Given the description of an element on the screen output the (x, y) to click on. 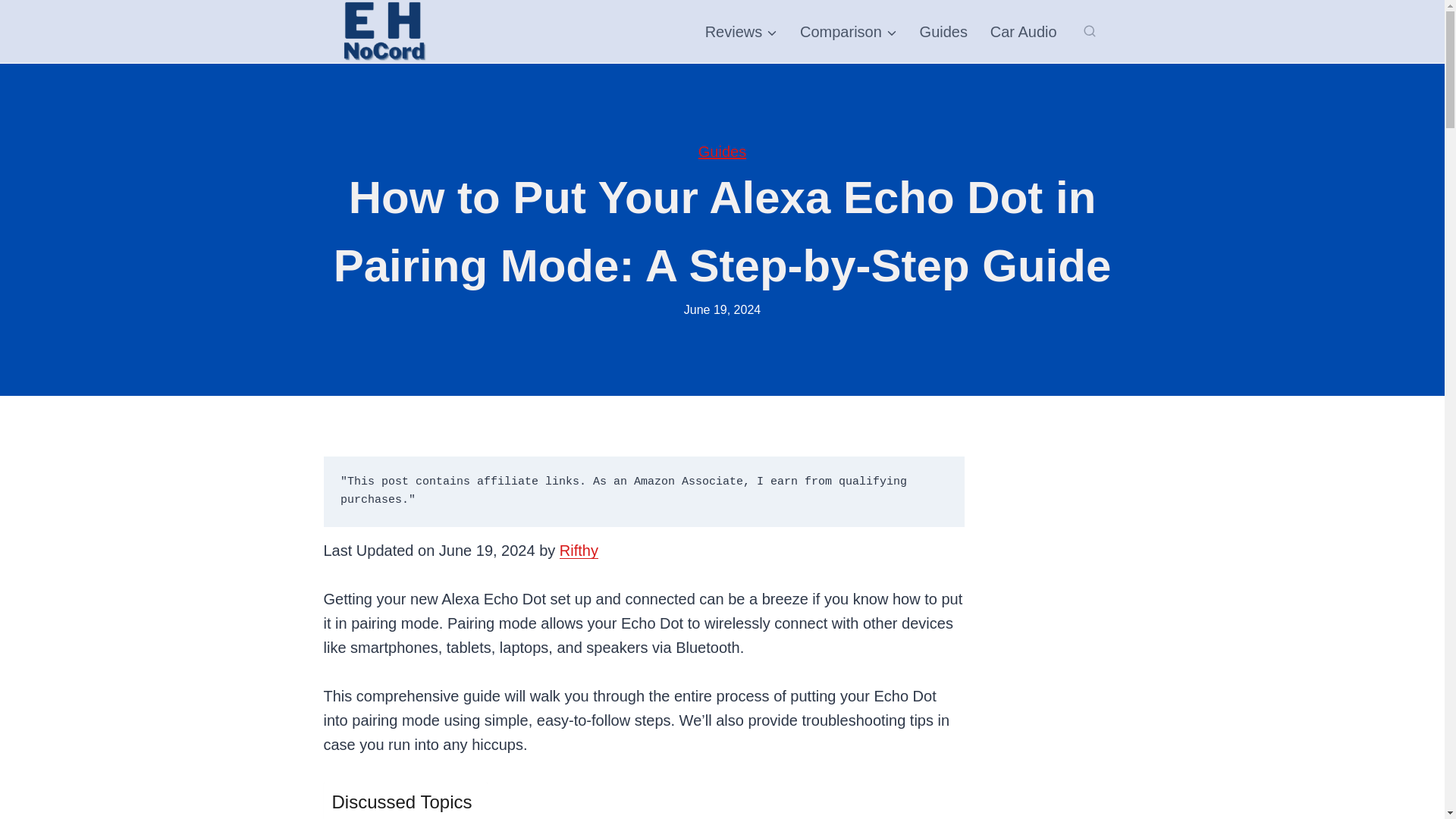
Guides (943, 31)
Rifthy (578, 550)
Reviews (741, 31)
Comparison (848, 31)
Car Audio (1023, 31)
Guides (721, 151)
